Given the description of an element on the screen output the (x, y) to click on. 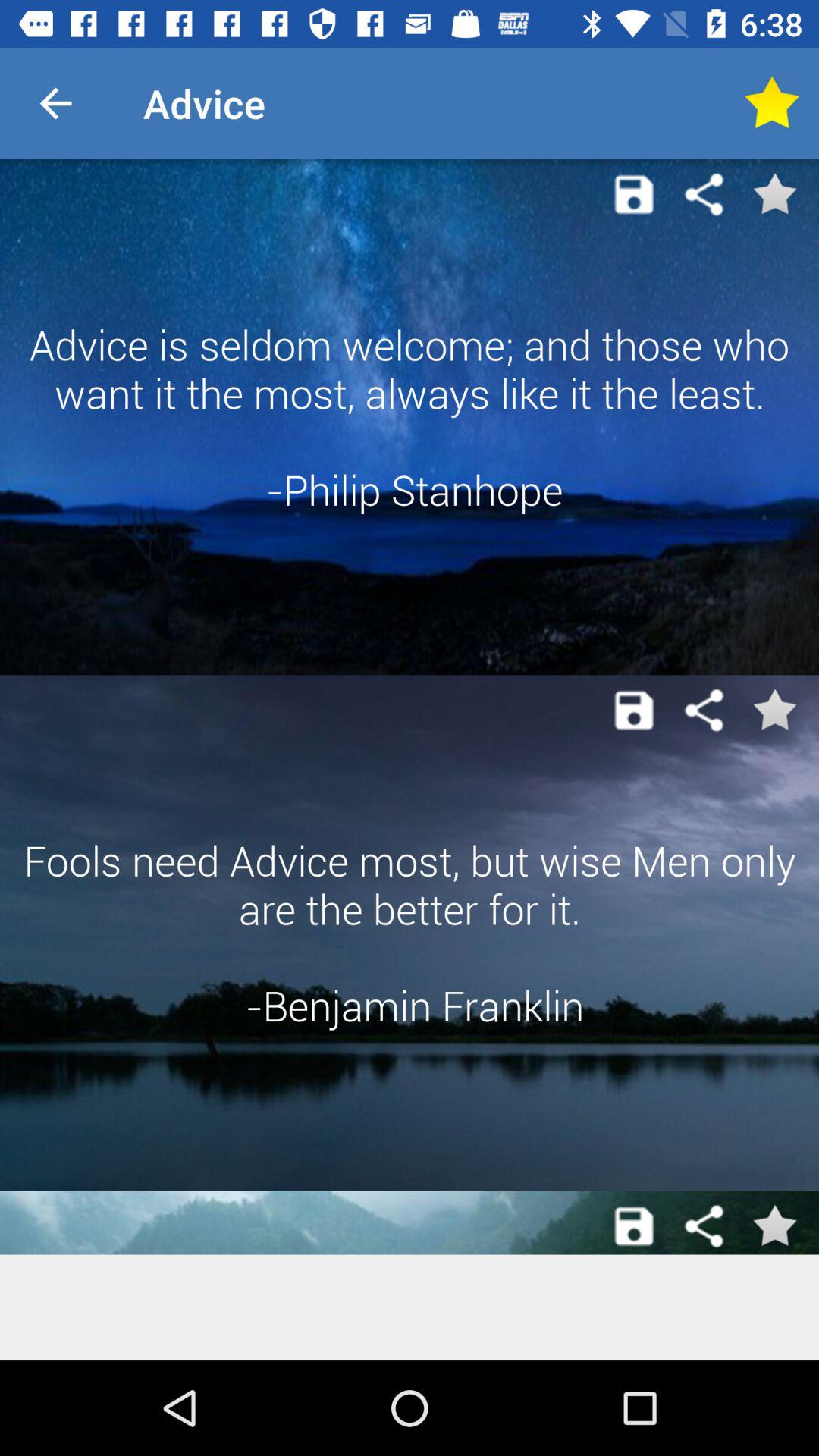
add to favorite (774, 194)
